Given the description of an element on the screen output the (x, y) to click on. 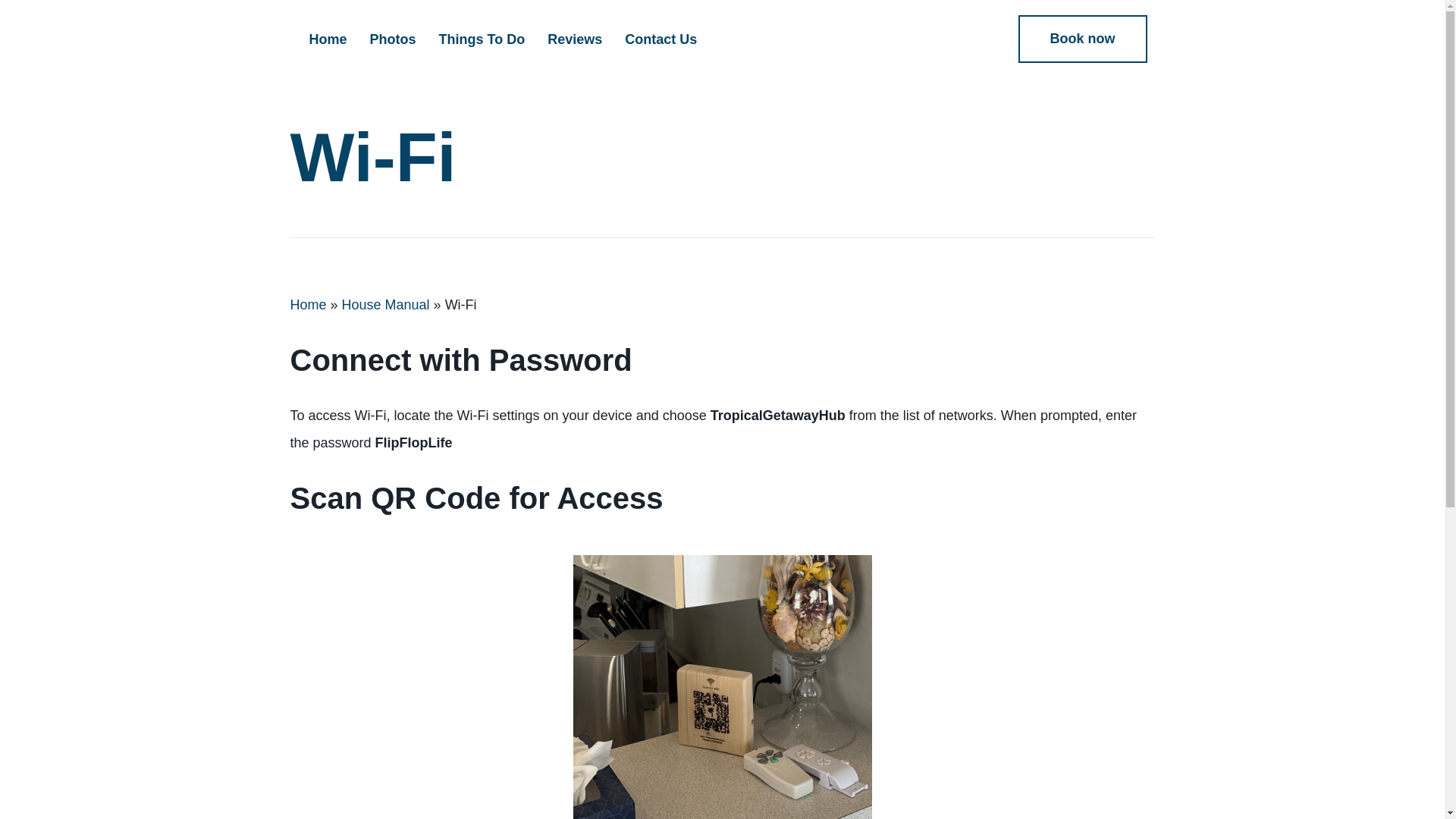
Photos (393, 39)
Book now (1082, 39)
Things To Do (482, 39)
Reviews (573, 39)
Home (327, 39)
House Manual (385, 304)
Contact Us (659, 39)
Home (307, 304)
